Given the description of an element on the screen output the (x, y) to click on. 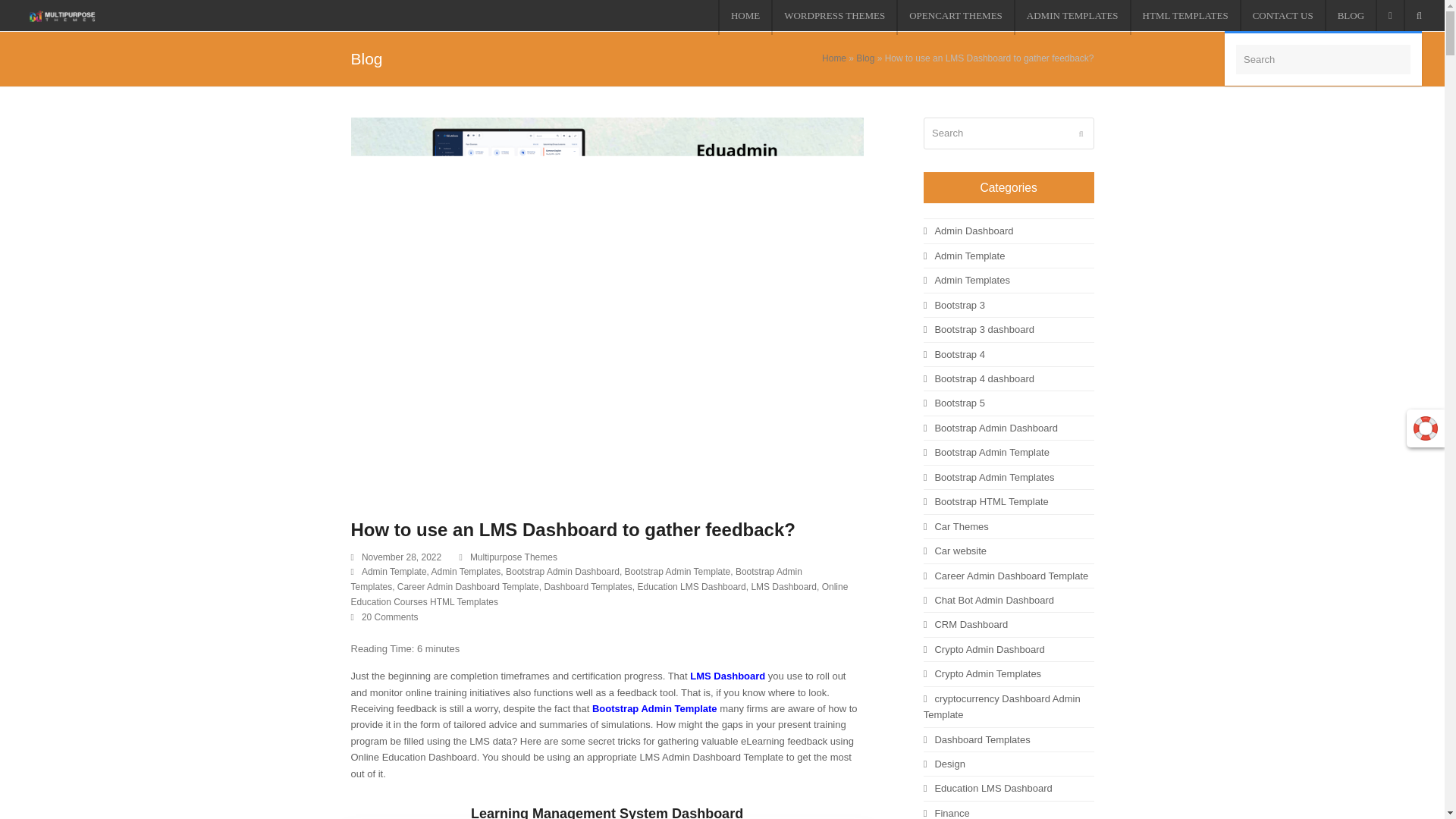
LMS (701, 675)
CONTACT US (1282, 17)
Online Education Courses HTML Templates (598, 594)
20 Comments (383, 617)
HTML TEMPLATES (1184, 17)
Bootstrap Admin Dashboard (562, 571)
Dashboard Templates (587, 586)
LMS Dashboard (783, 586)
Education LMS Dashboard (691, 586)
Bootstrap Admin Template (654, 708)
